Given the description of an element on the screen output the (x, y) to click on. 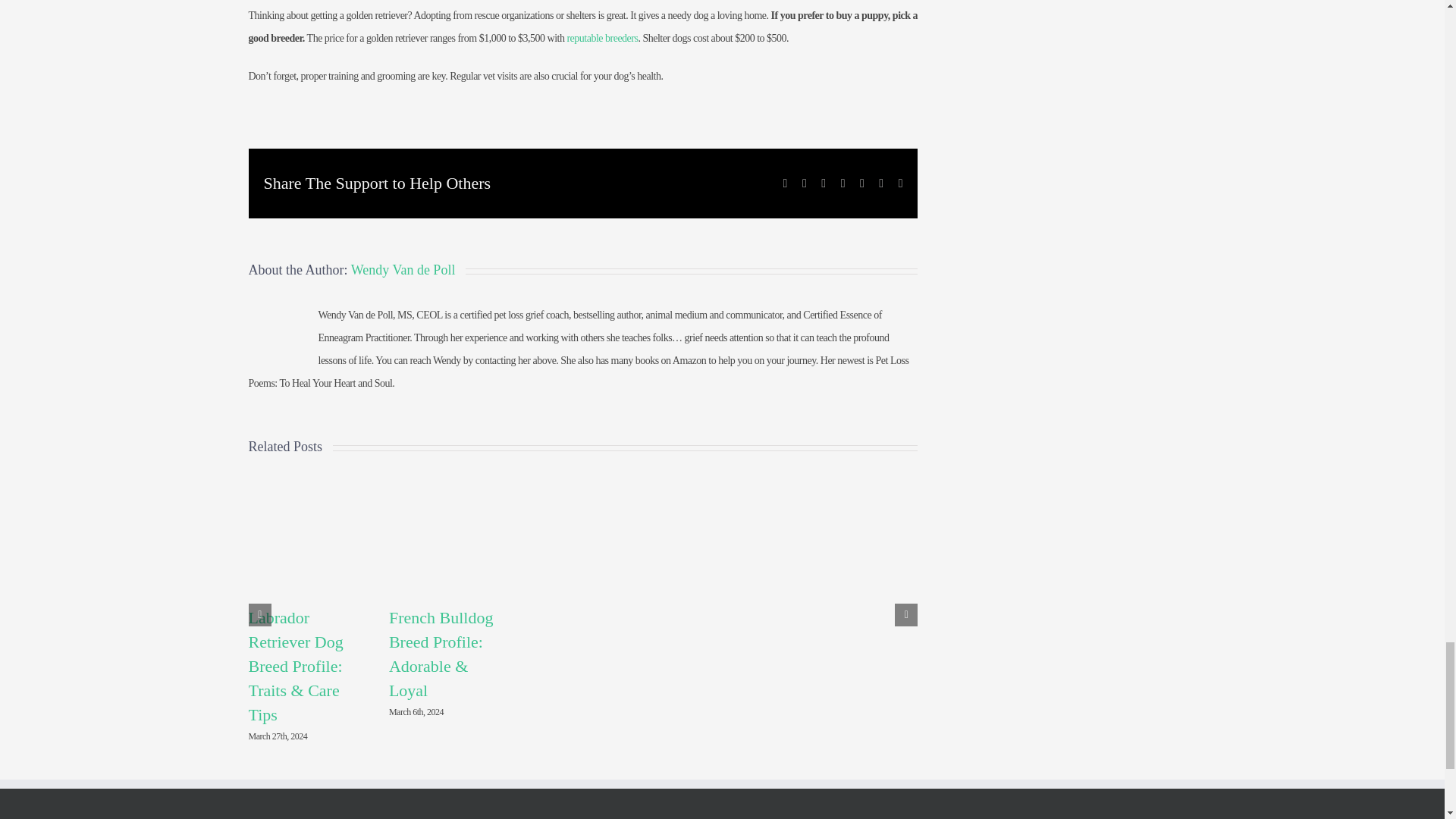
Posts by Wendy Van de Poll (402, 269)
